Given the description of an element on the screen output the (x, y) to click on. 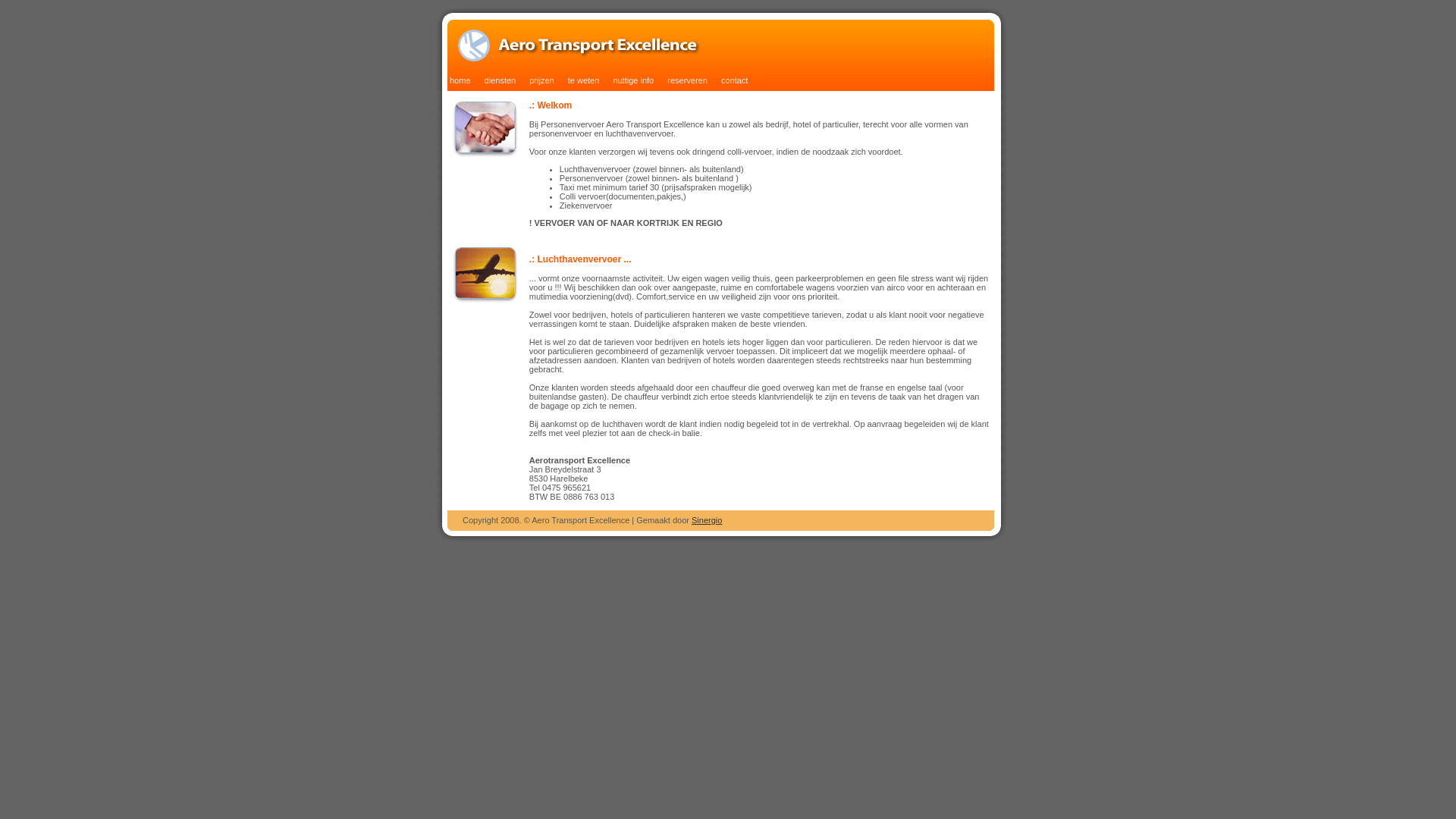
diensten Element type: text (494, 79)
home Element type: text (454, 79)
reserveren Element type: text (681, 79)
te weten Element type: text (577, 79)
prijzen Element type: text (535, 79)
nuttige info Element type: text (627, 79)
Sinergio Element type: text (706, 519)
contact Element type: text (728, 79)
